Given the description of an element on the screen output the (x, y) to click on. 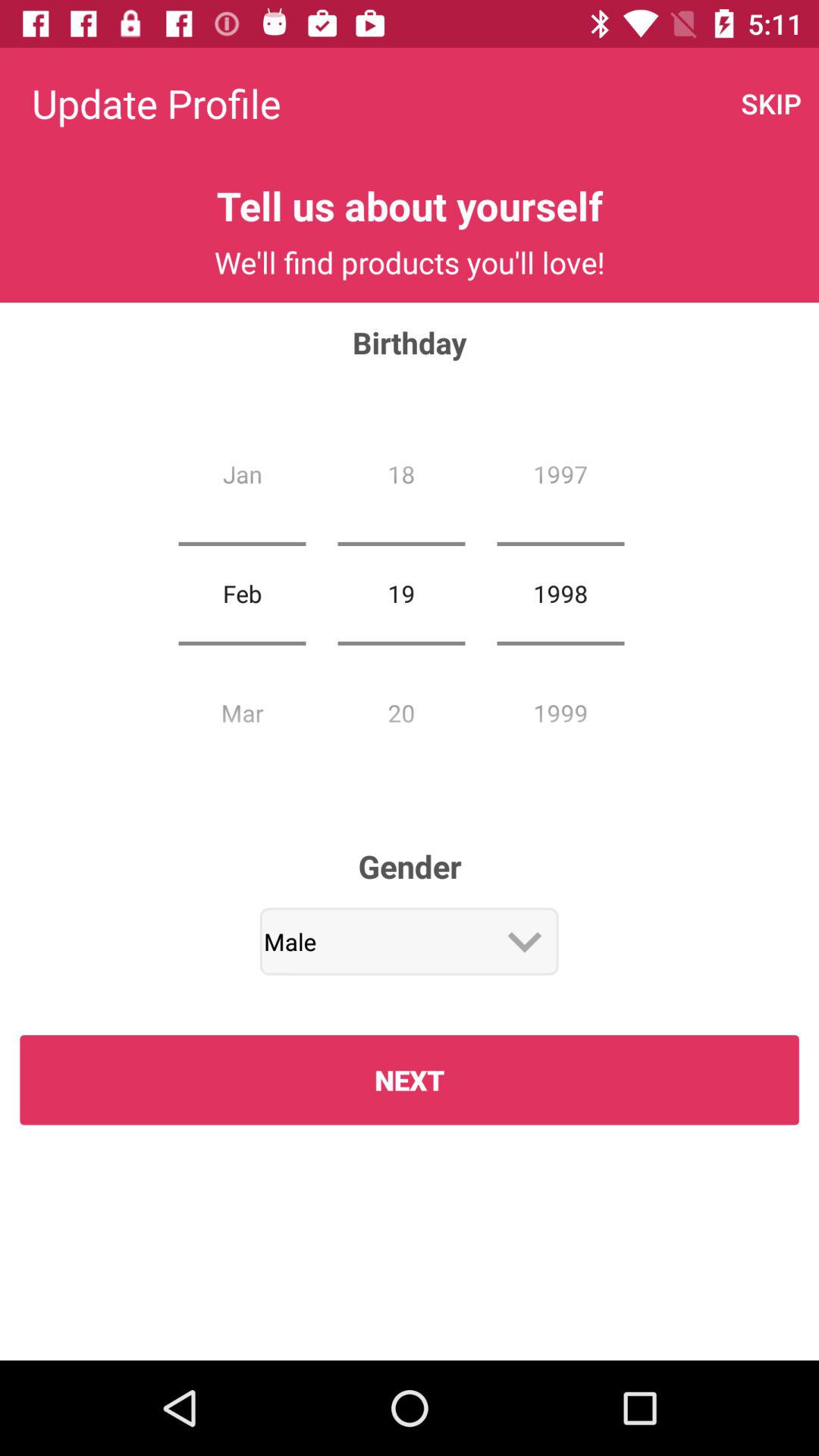
turn on the 1998 item (560, 593)
